Given the description of an element on the screen output the (x, y) to click on. 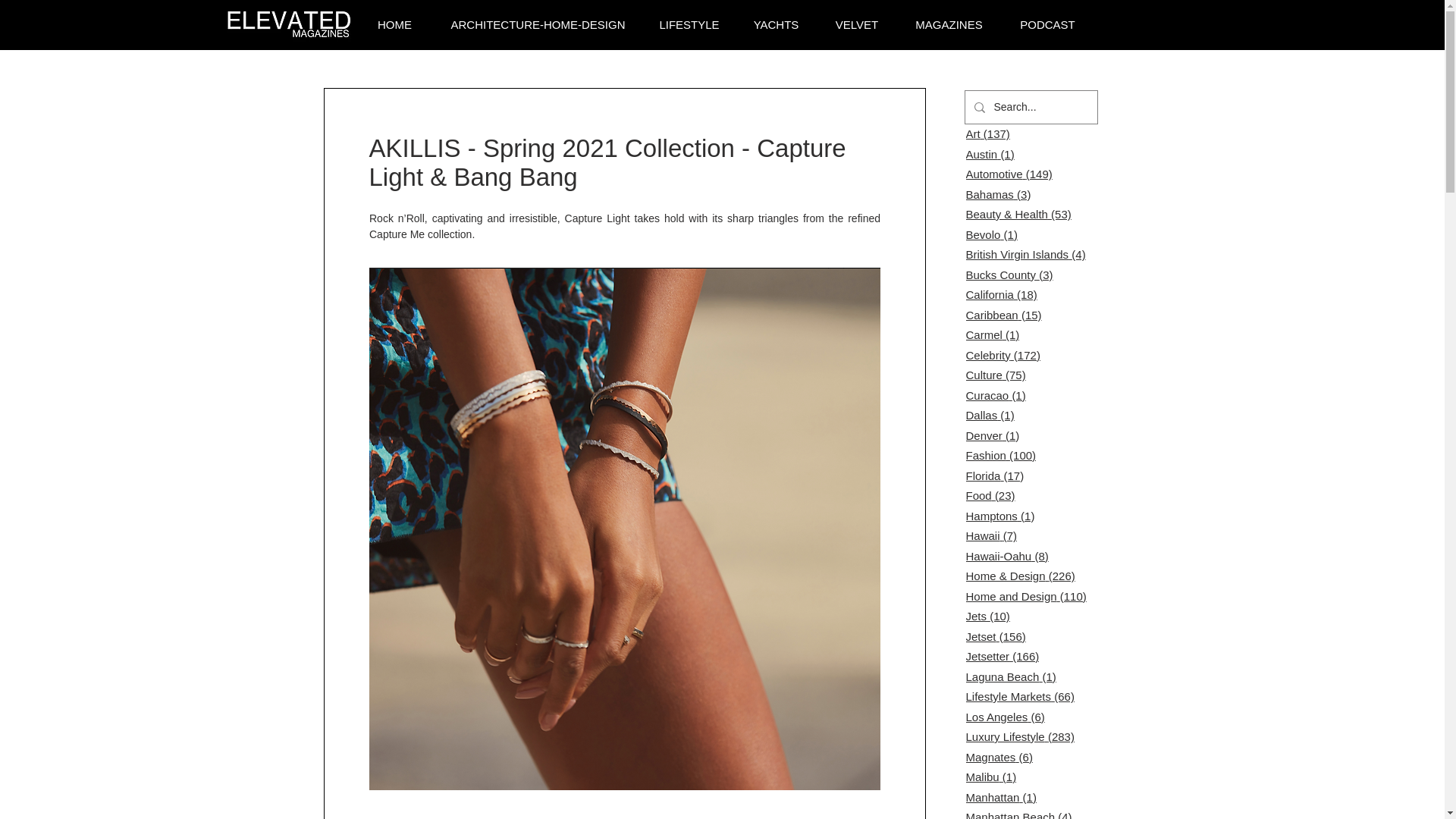
MAGAZINES (948, 25)
PODCAST (1047, 25)
HOME (394, 25)
VELVET (856, 25)
YACHTS (775, 25)
